Given the description of an element on the screen output the (x, y) to click on. 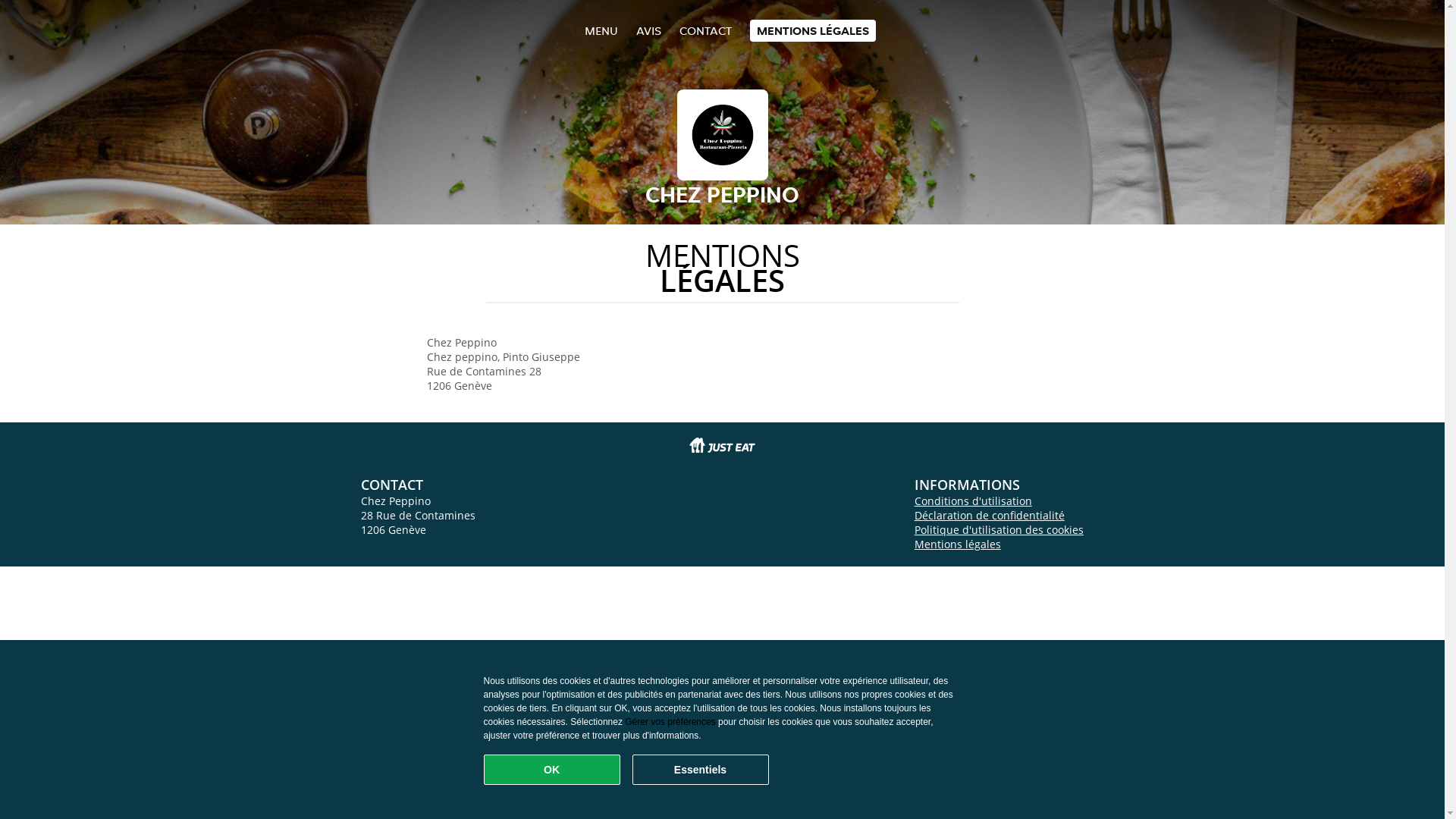
Conditions d'utilisation Element type: text (973, 500)
OK Element type: text (551, 769)
Essentiels Element type: text (700, 769)
Politique d'utilisation des cookies Element type: text (998, 529)
CONTACT Element type: text (705, 30)
AVIS Element type: text (647, 30)
MENU Element type: text (600, 30)
